Given the description of an element on the screen output the (x, y) to click on. 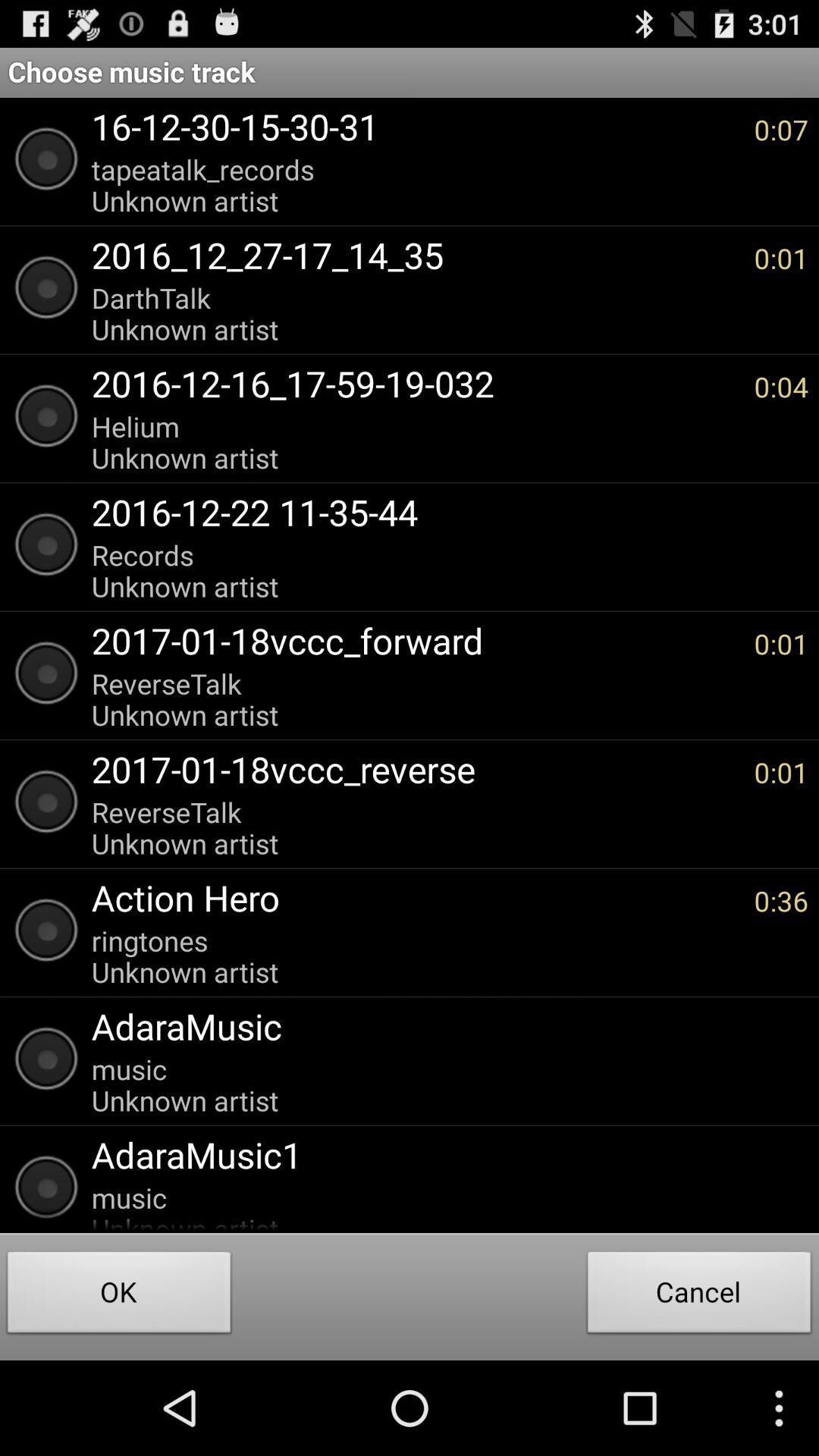
open adaramusic1 item (441, 1154)
